Given the description of an element on the screen output the (x, y) to click on. 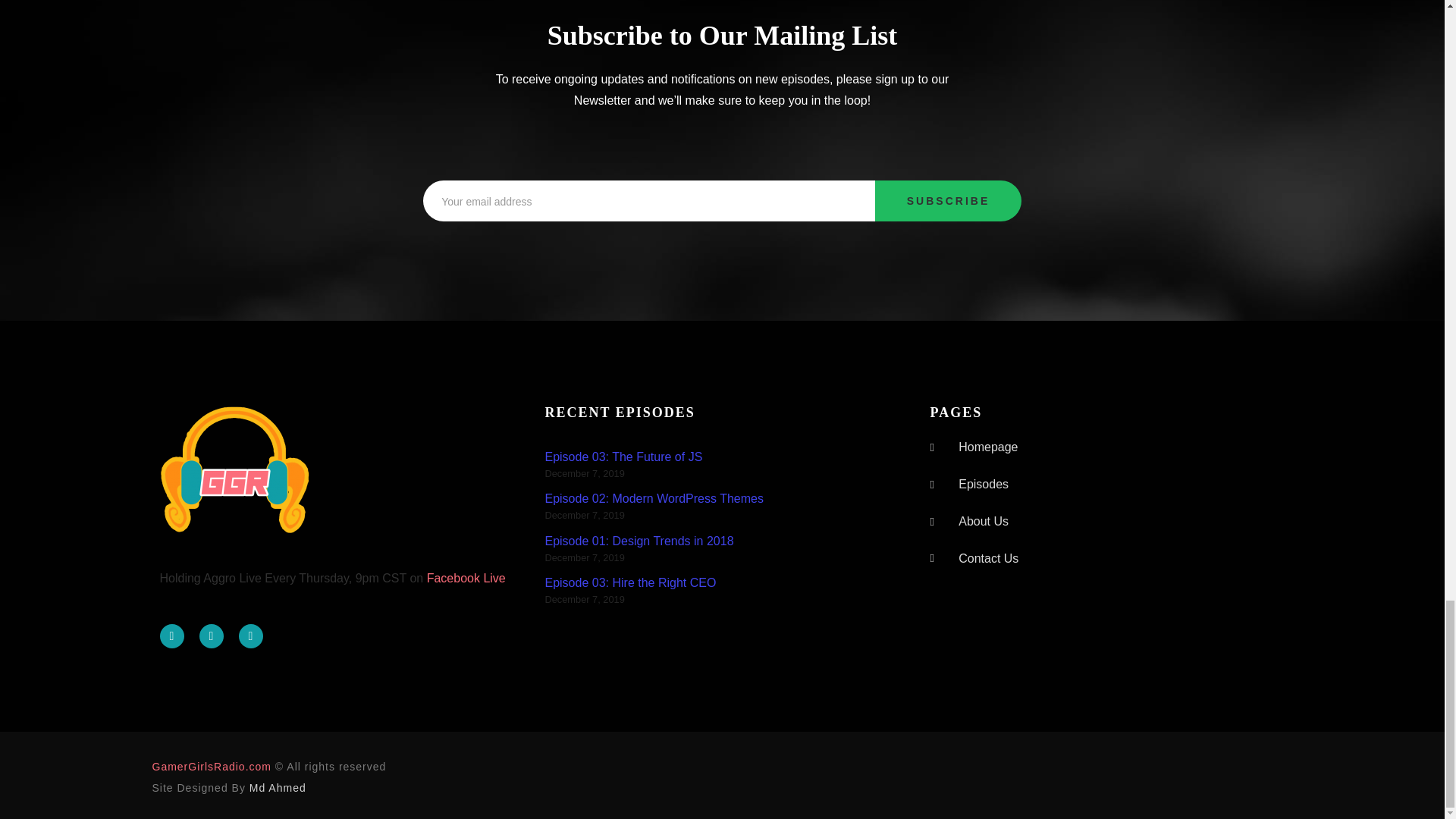
Logo a cropped (234, 468)
Subscribe (948, 200)
